Given the description of an element on the screen output the (x, y) to click on. 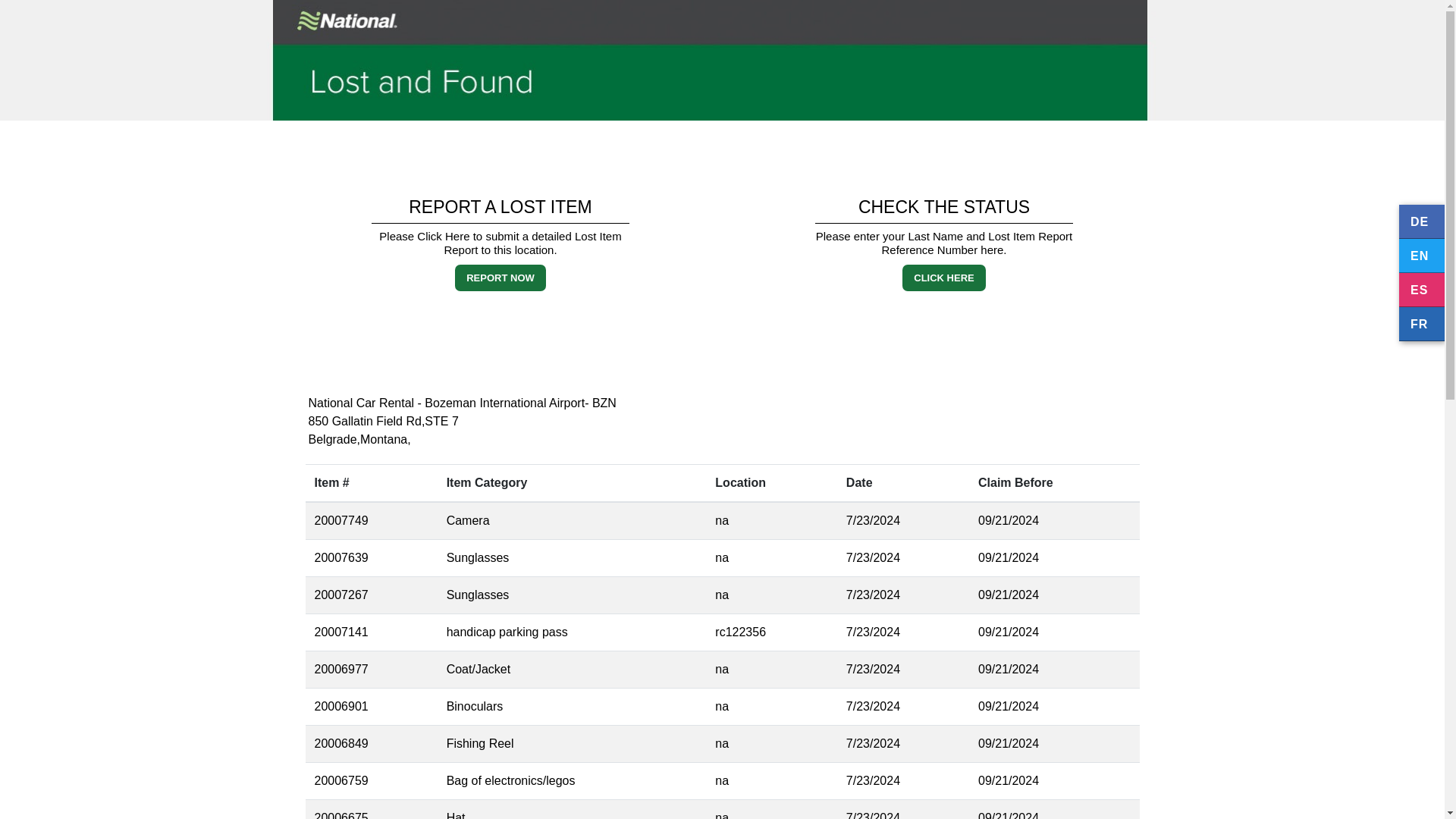
REPORT NOW (500, 277)
CLICK HERE (943, 277)
